Given the description of an element on the screen output the (x, y) to click on. 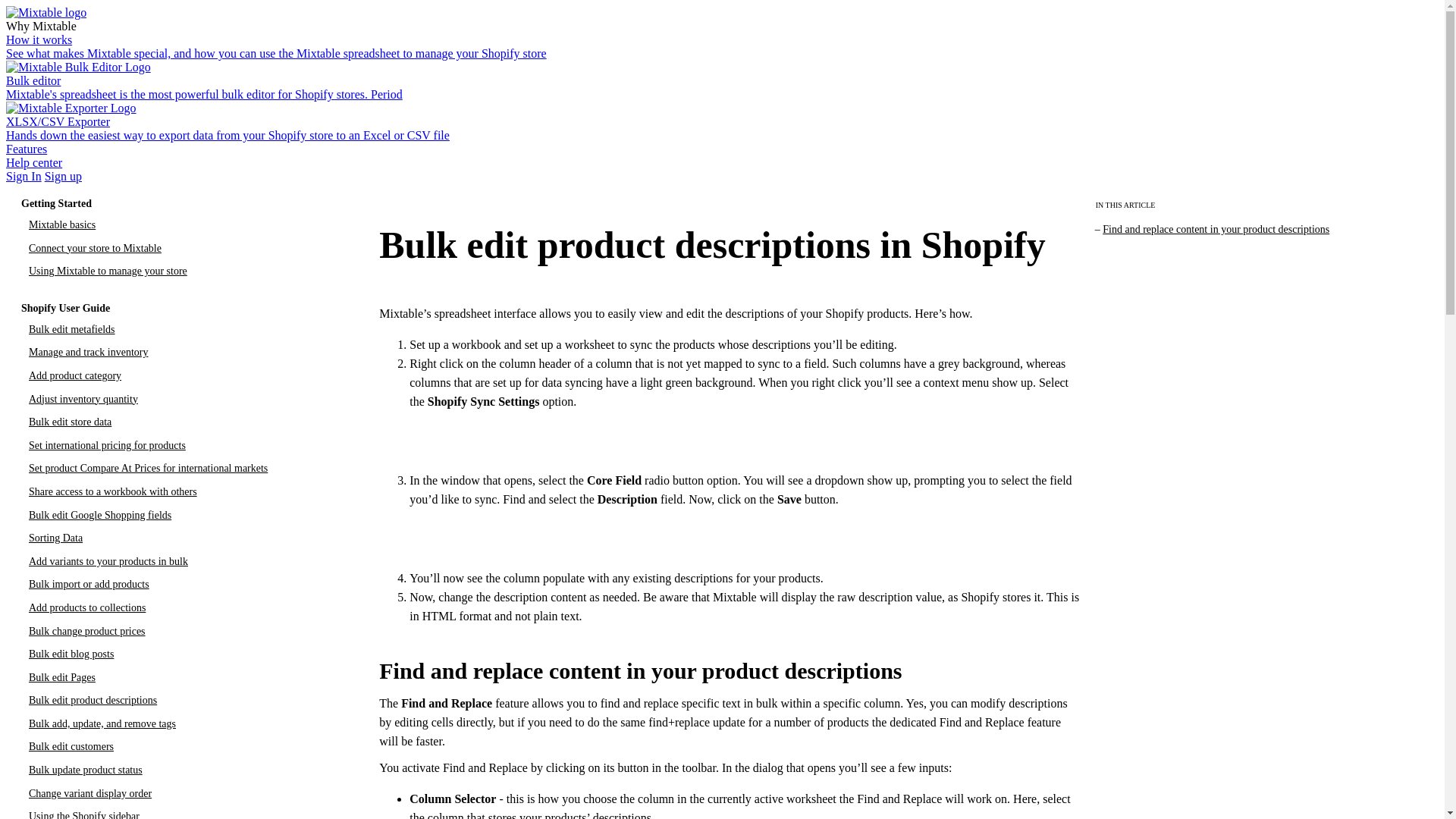
Using Mixtable to manage your store (108, 270)
Bulk change product prices (87, 630)
Bulk edit Google Shopping fields (100, 514)
Change variant display order (90, 793)
Add variants to your products in bulk (108, 561)
Sorting Data (55, 537)
Bulk edit customers (71, 746)
Bulk update product status (85, 769)
Bulk edit blog posts (71, 654)
Bulk edit Pages (62, 677)
Bulk add, update, and remove tags (102, 723)
Help center (33, 162)
Features (25, 148)
Bulk edit store data (70, 421)
Manage and track inventory (88, 351)
